Given the description of an element on the screen output the (x, y) to click on. 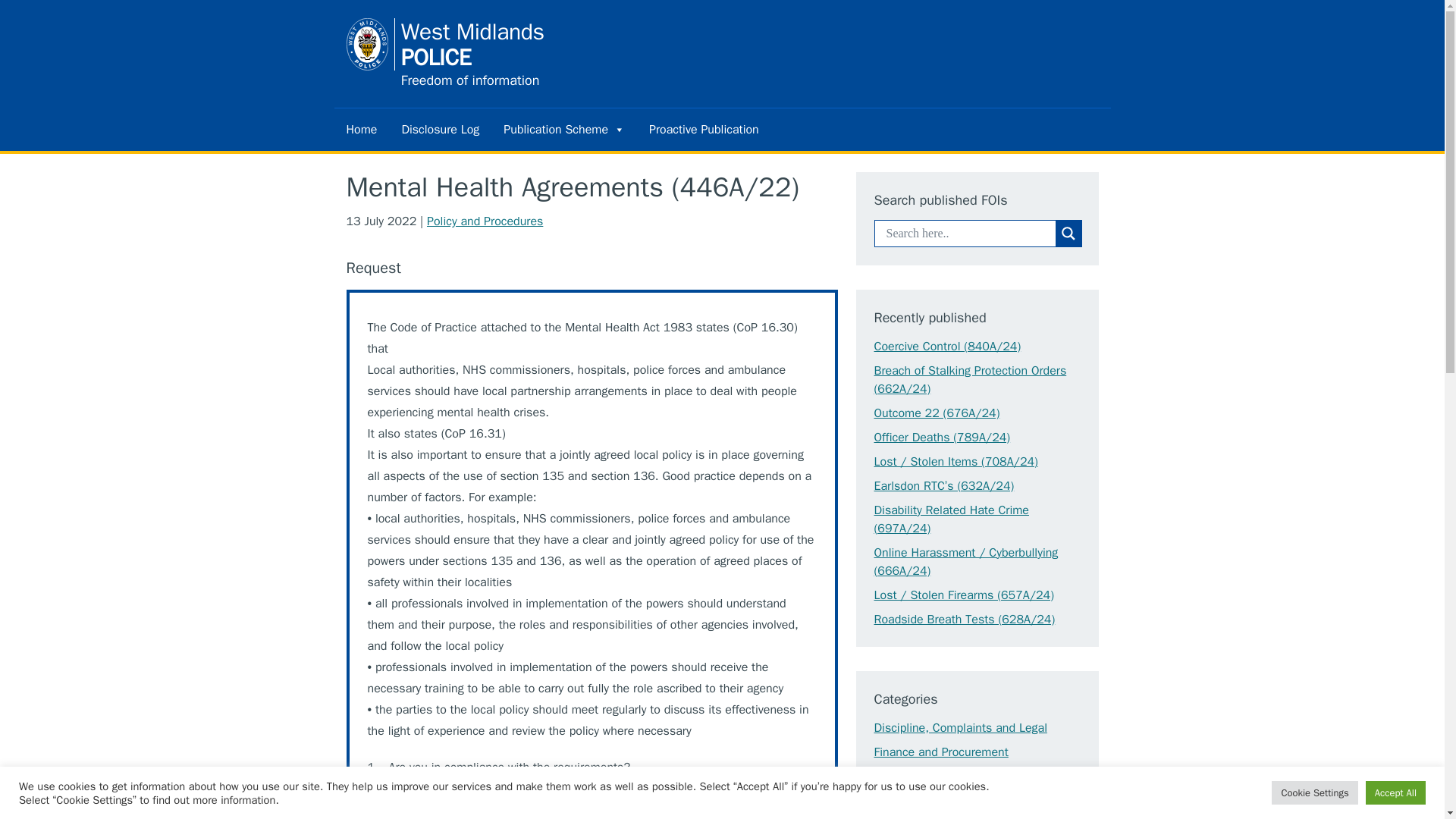
Finance and Procurement (940, 752)
Discipline, Complaints and Legal (959, 727)
Publication Scheme (564, 128)
Home (360, 128)
Proactive Publication (704, 128)
Policy and Procedures (484, 221)
Fixed Penalty Notices (518, 53)
Disclosure Log (930, 815)
